Given the description of an element on the screen output the (x, y) to click on. 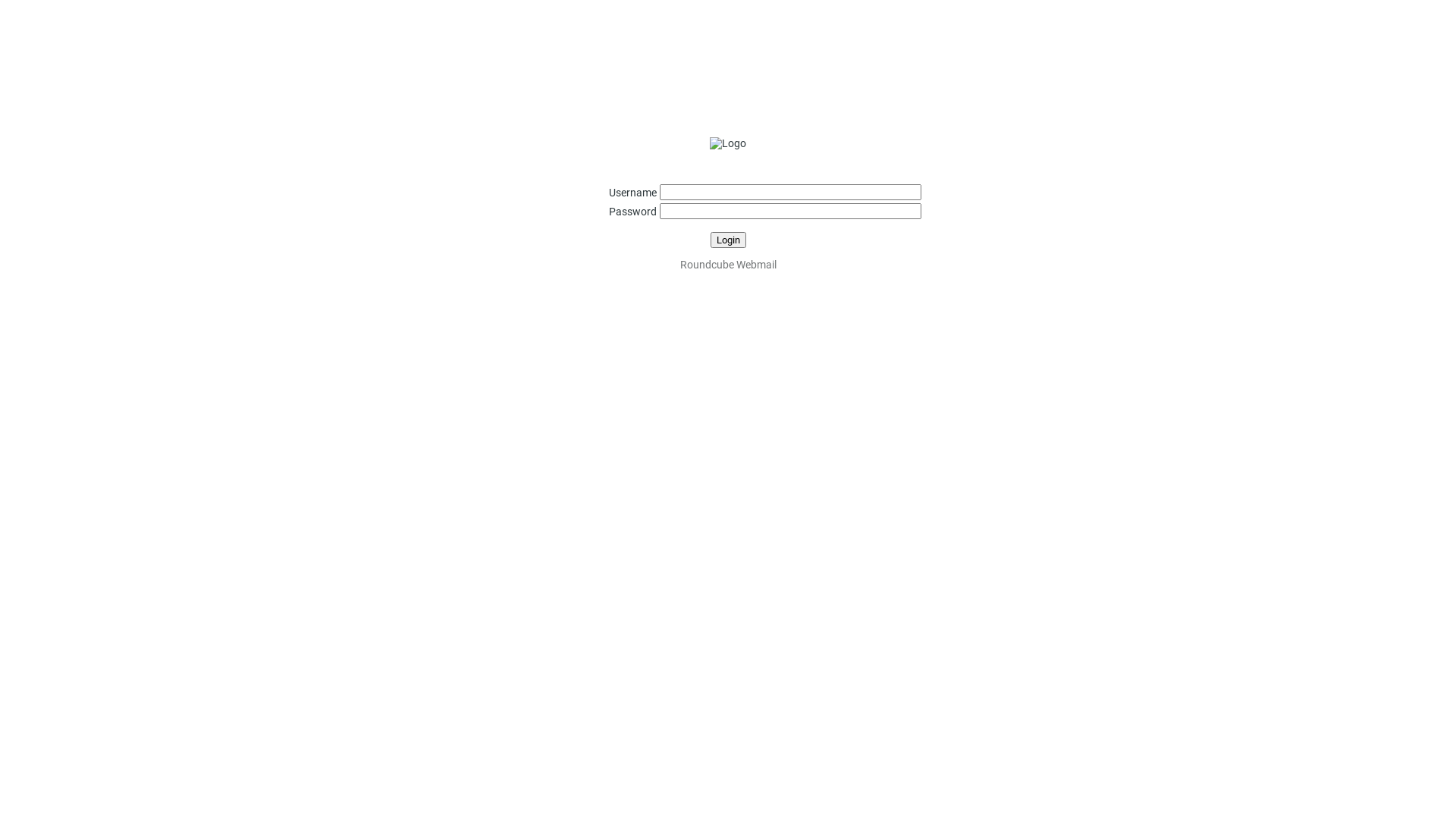
Login Element type: text (727, 239)
